Given the description of an element on the screen output the (x, y) to click on. 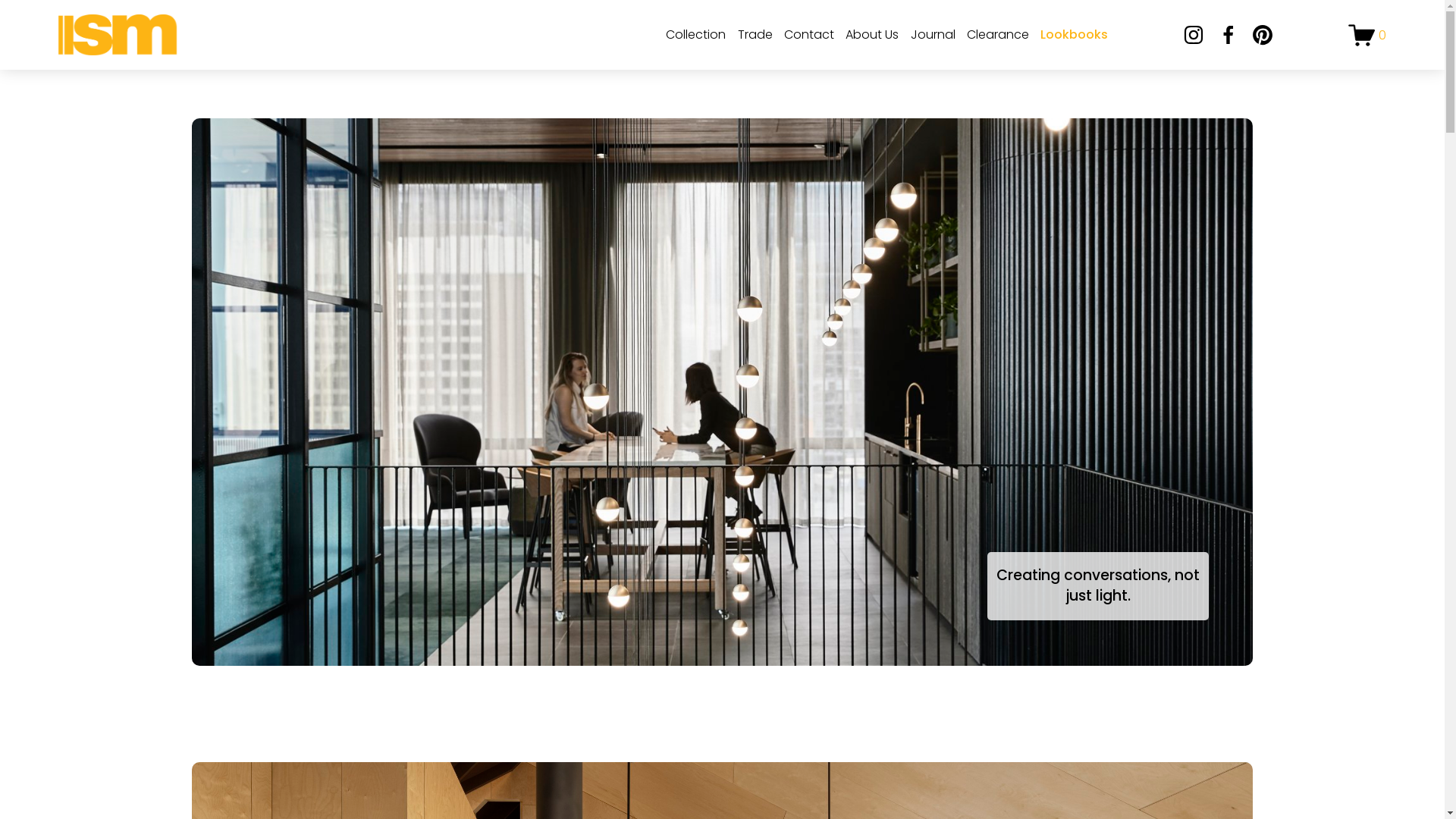
Trade Element type: text (754, 34)
Lookbooks Element type: text (1073, 34)
Clearance Element type: text (997, 34)
Journal Element type: text (932, 34)
Collection Element type: text (695, 34)
0 Element type: text (1367, 34)
About Us Element type: text (871, 34)
Contact Element type: text (809, 34)
